Given the description of an element on the screen output the (x, y) to click on. 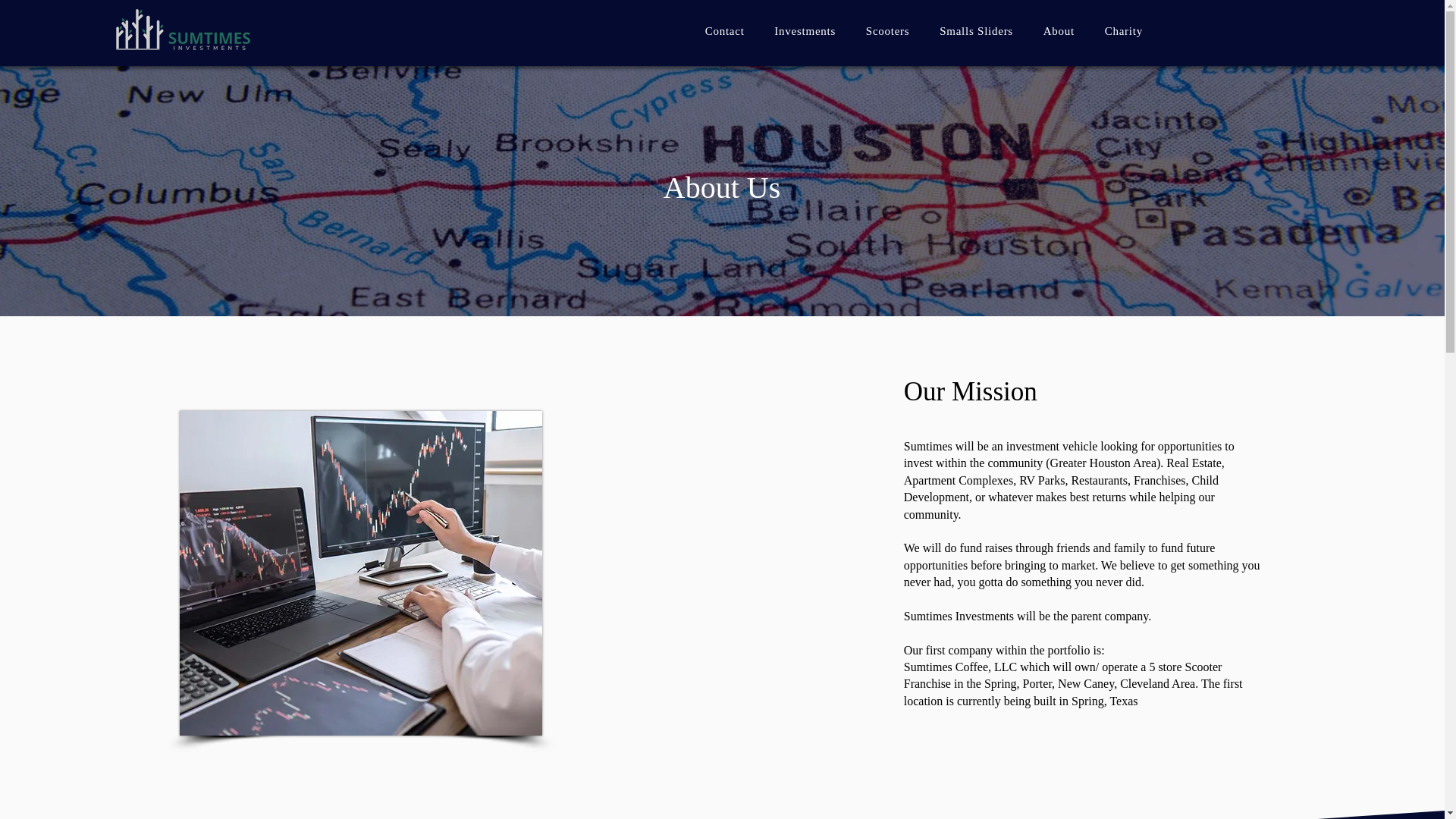
About (1058, 31)
Scooters (887, 31)
Smalls Sliders (976, 31)
Charity (1123, 31)
Investments (804, 31)
Contact (725, 31)
